Given the description of an element on the screen output the (x, y) to click on. 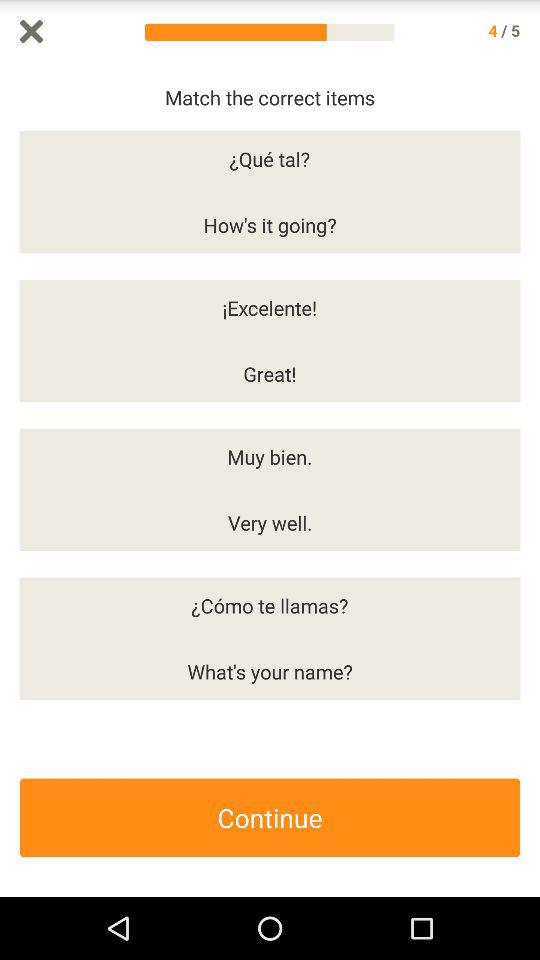
close it (31, 31)
